Given the description of an element on the screen output the (x, y) to click on. 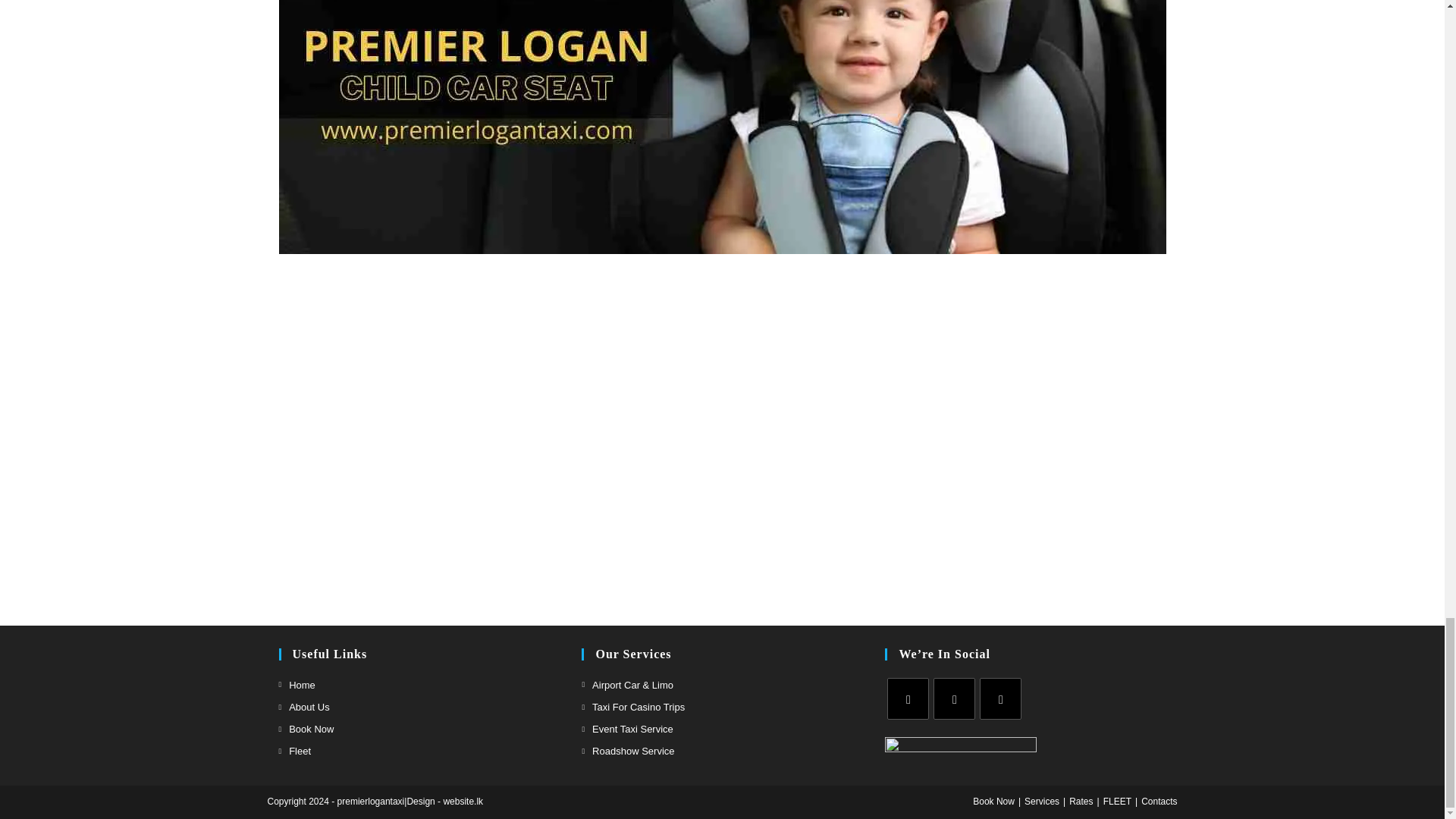
About Us (304, 706)
Fleet (295, 751)
Home (297, 684)
Book Now (306, 728)
